Given the description of an element on the screen output the (x, y) to click on. 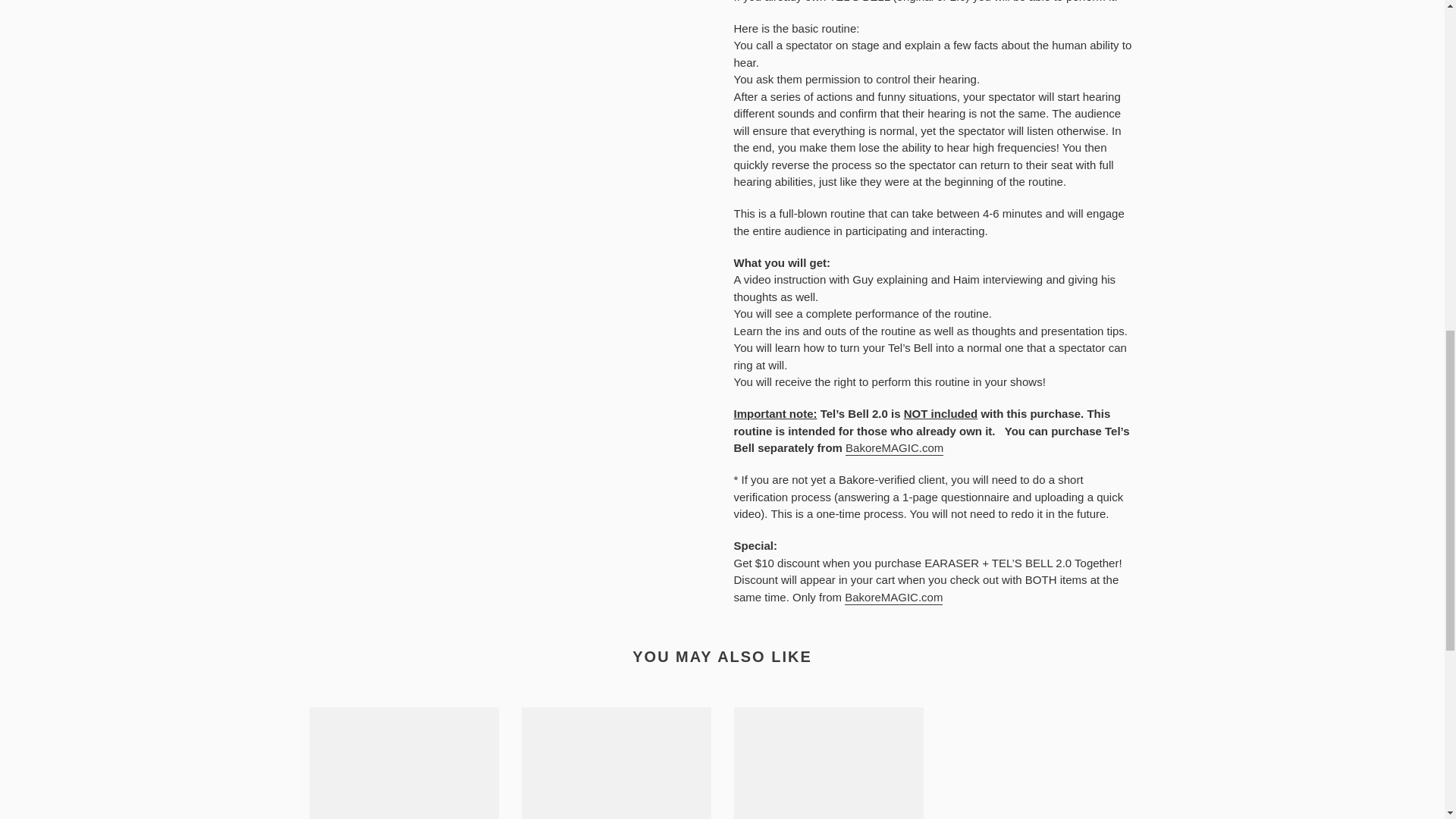
colors- BM Extra (828, 763)
Coins- BM Extra (403, 763)
BakoreMAGIC.com (894, 448)
BakoreMAGIC.com (893, 597)
